Given the description of an element on the screen output the (x, y) to click on. 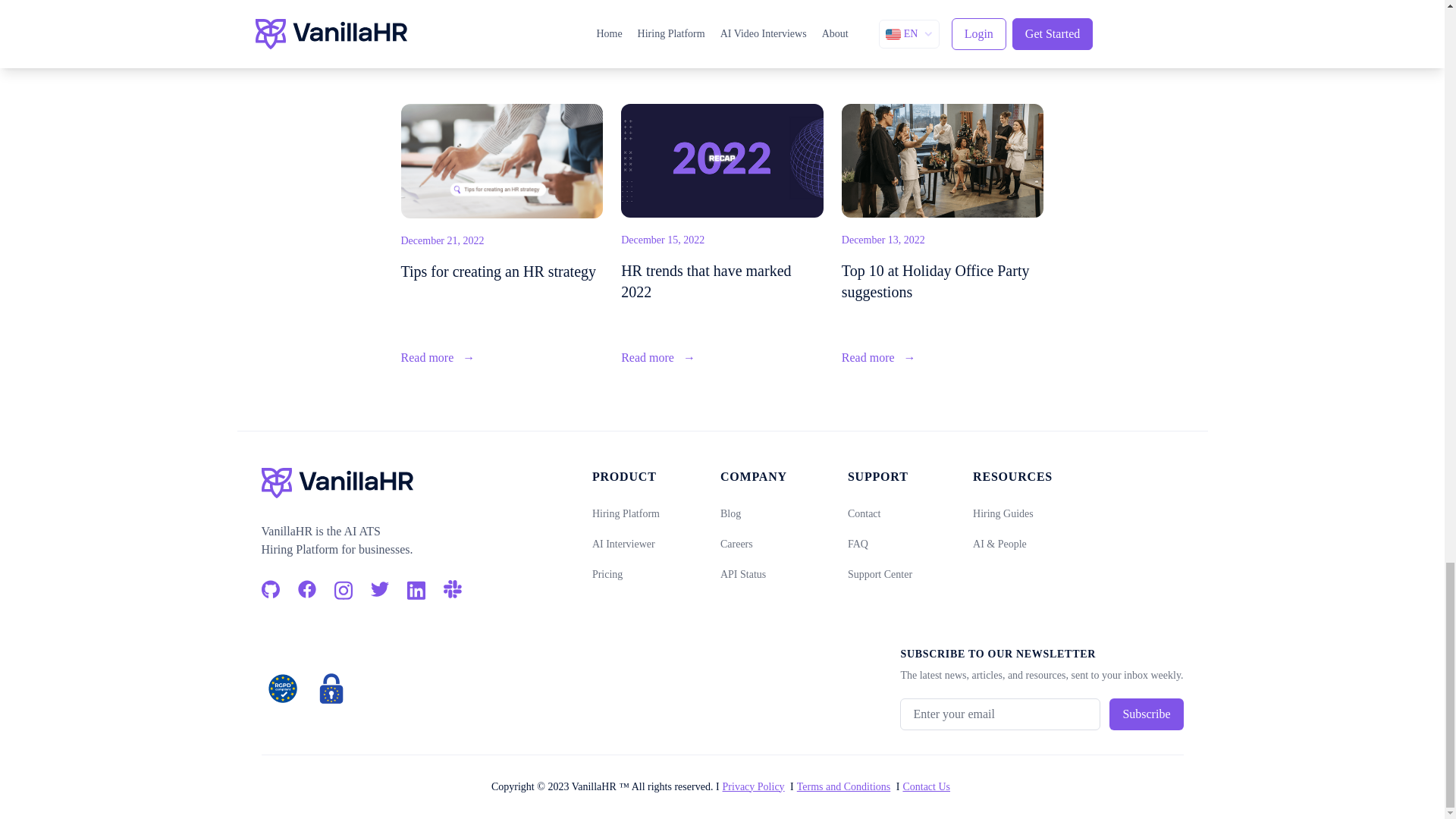
AI Interviewer (623, 543)
Blog (730, 513)
Linkedin (415, 588)
Pricing (607, 573)
Hiring Platform (625, 513)
Privacy Policy (753, 786)
API Status (742, 573)
GitHub (269, 588)
Slack (451, 588)
Subscribe (1145, 713)
Instagram (342, 588)
Twitter (378, 588)
Careers (736, 543)
Hiring Guides (1002, 513)
Contact Us (926, 786)
